Given the description of an element on the screen output the (x, y) to click on. 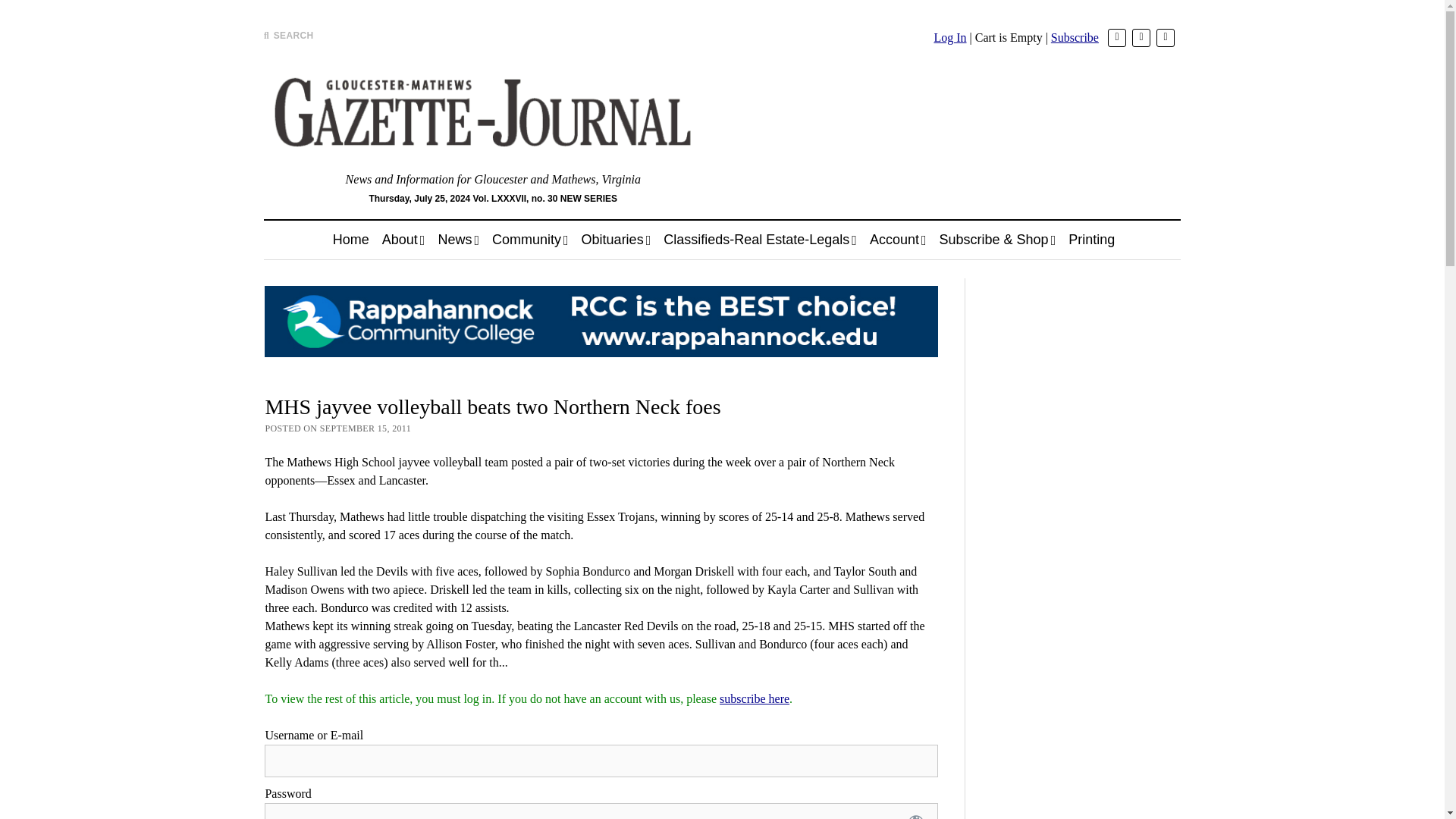
News (457, 239)
Obituaries (616, 239)
SEARCH (288, 35)
Search (945, 129)
Subscribe (1075, 37)
facebook (1141, 37)
instagram (1165, 37)
Log In (949, 37)
twitter (1116, 37)
About (402, 239)
Home (350, 239)
Community (530, 239)
